Given the description of an element on the screen output the (x, y) to click on. 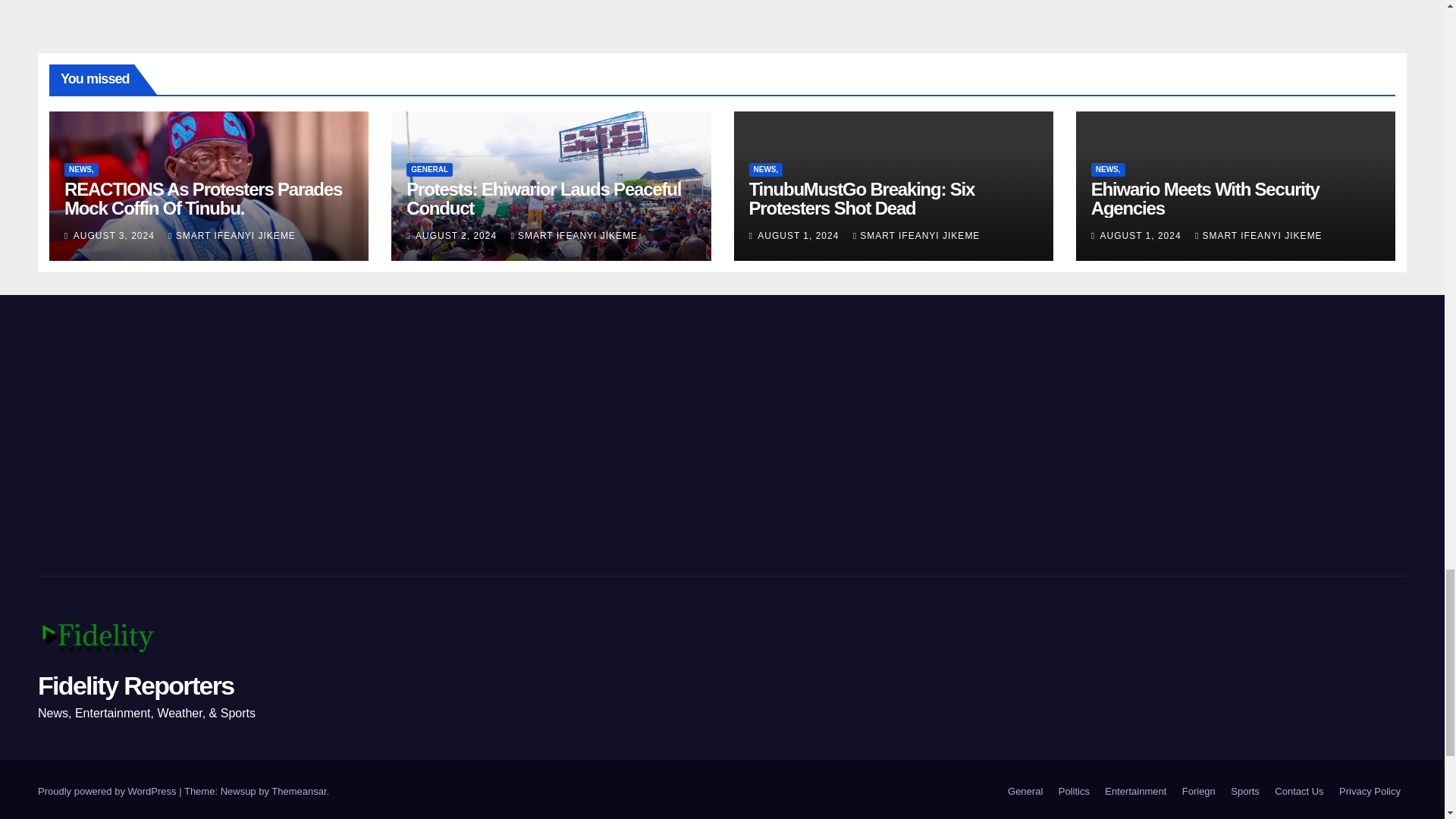
NEWS, (81, 169)
